Given the description of an element on the screen output the (x, y) to click on. 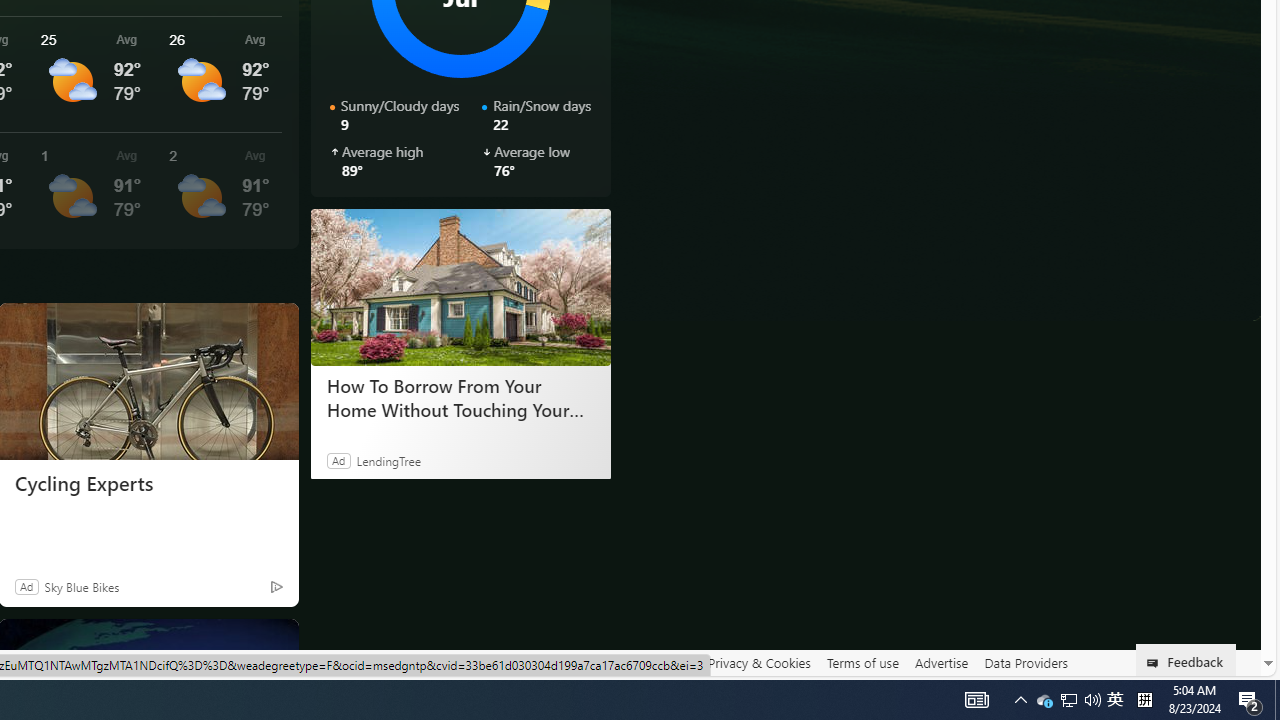
Cycling Experts (148, 484)
Advertise (940, 663)
Consumer Health Privacy (619, 662)
Privacy & Cookies (759, 663)
See more (274, 642)
See More Details (221, 190)
Ad (26, 586)
Feedback (1186, 659)
Advertise (940, 662)
Data Providers (1025, 663)
How To Borrow From Your Home Without Touching Your Mortgage (460, 397)
